Given the description of an element on the screen output the (x, y) to click on. 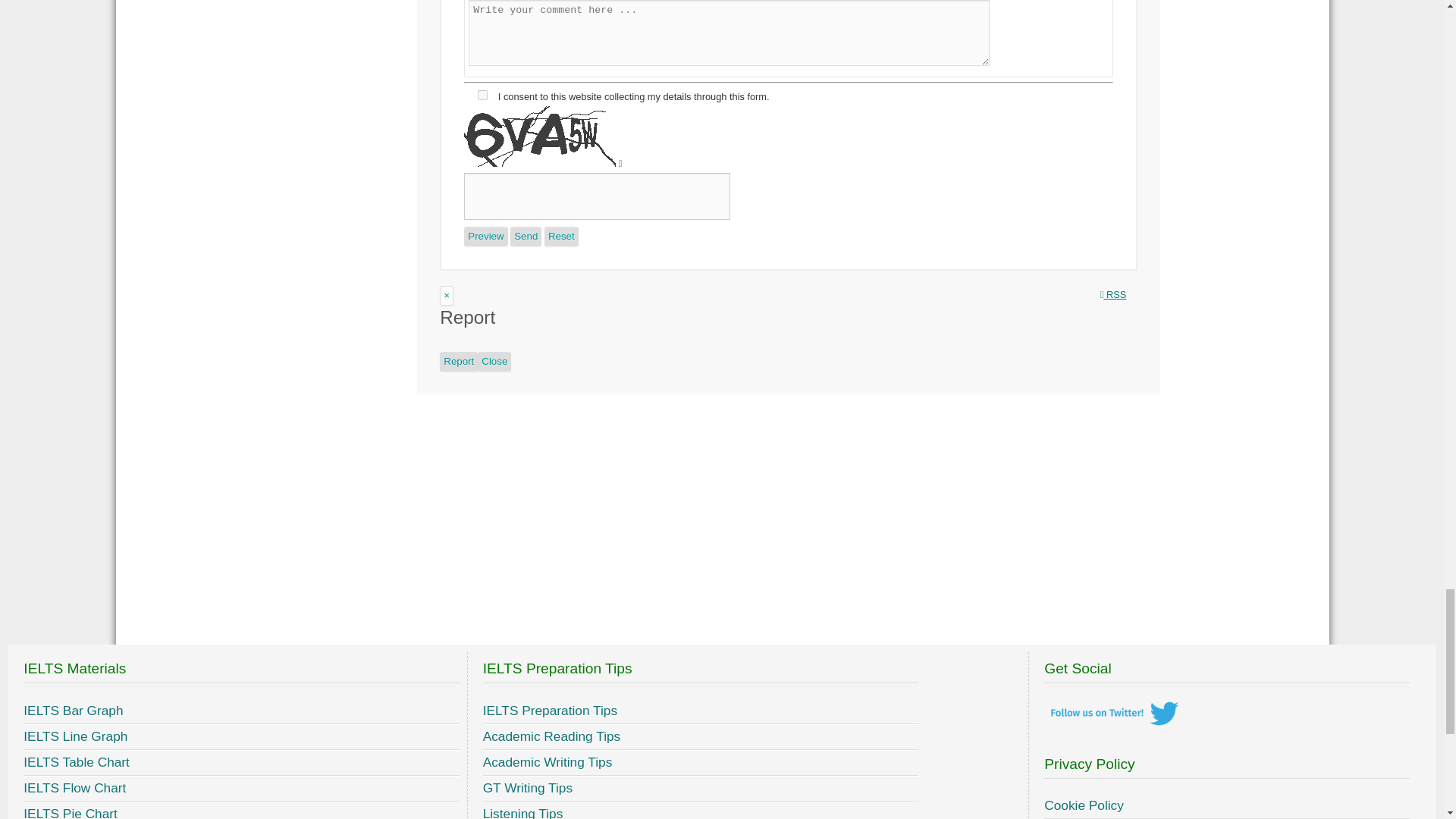
1 (482, 94)
